Given the description of an element on the screen output the (x, y) to click on. 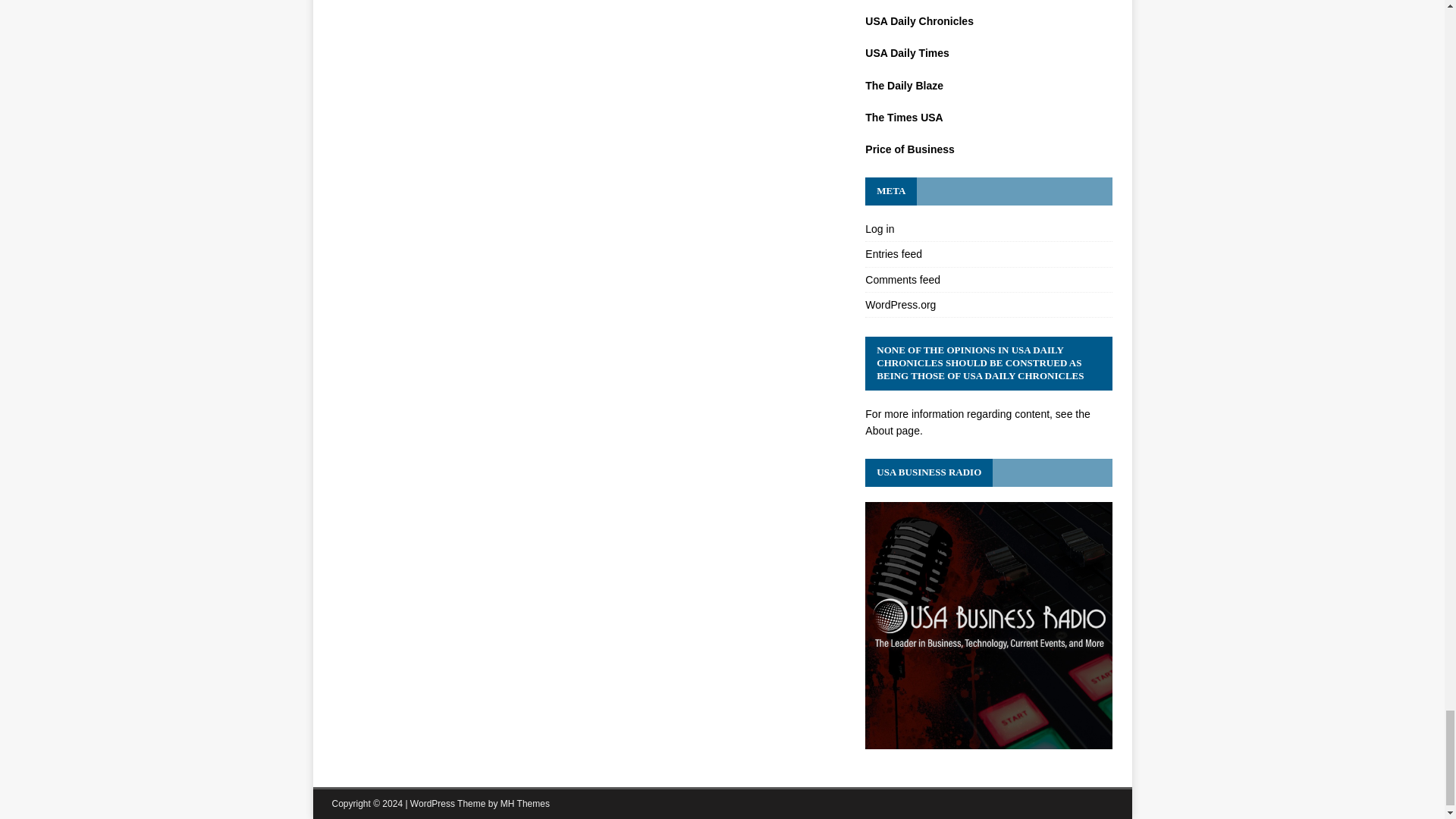
USA Business Radio (988, 739)
